Given the description of an element on the screen output the (x, y) to click on. 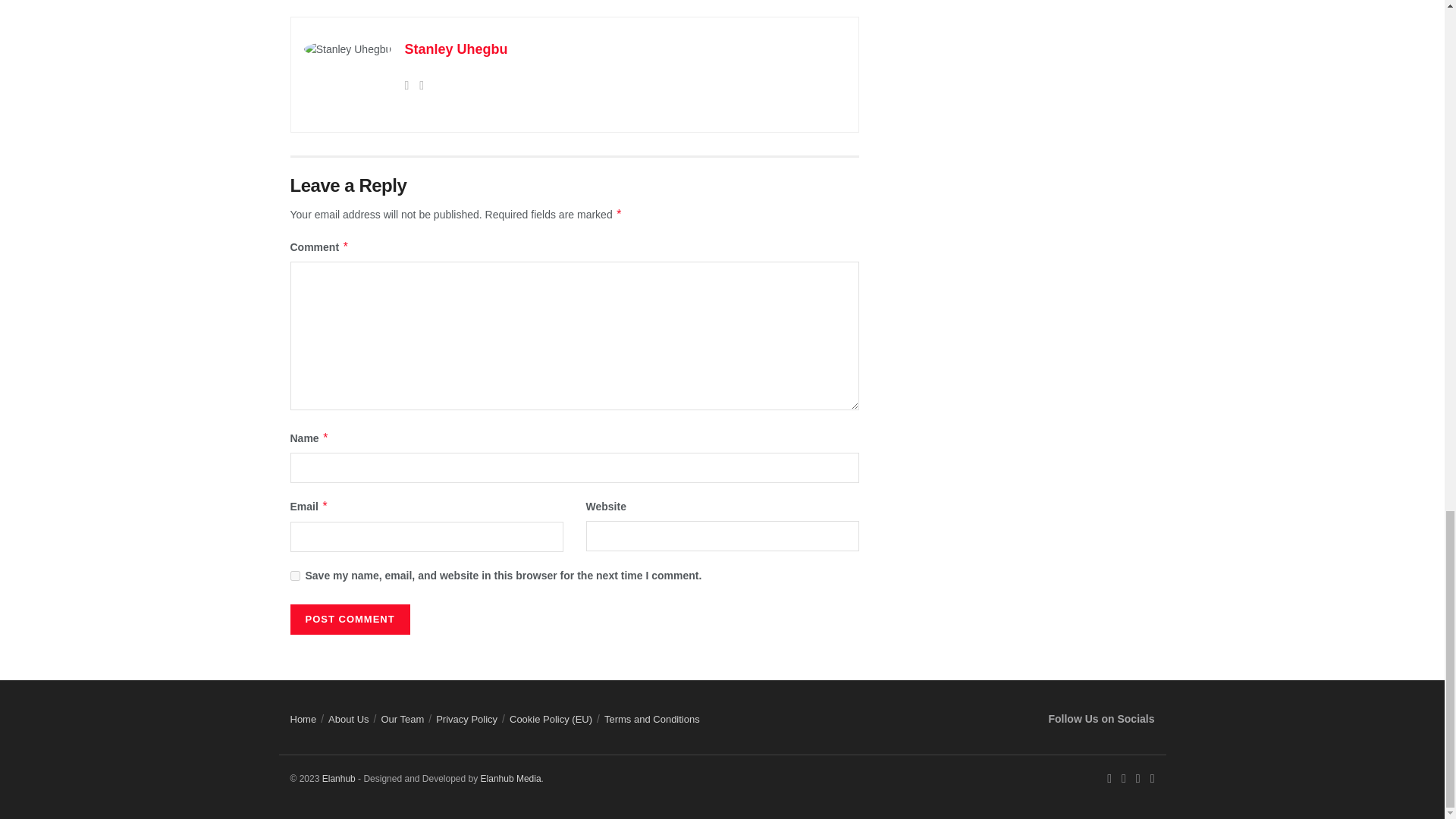
yes (294, 575)
Post Comment (349, 619)
Elanhub Media (338, 778)
Elanhub Media (510, 778)
